Given the description of an element on the screen output the (x, y) to click on. 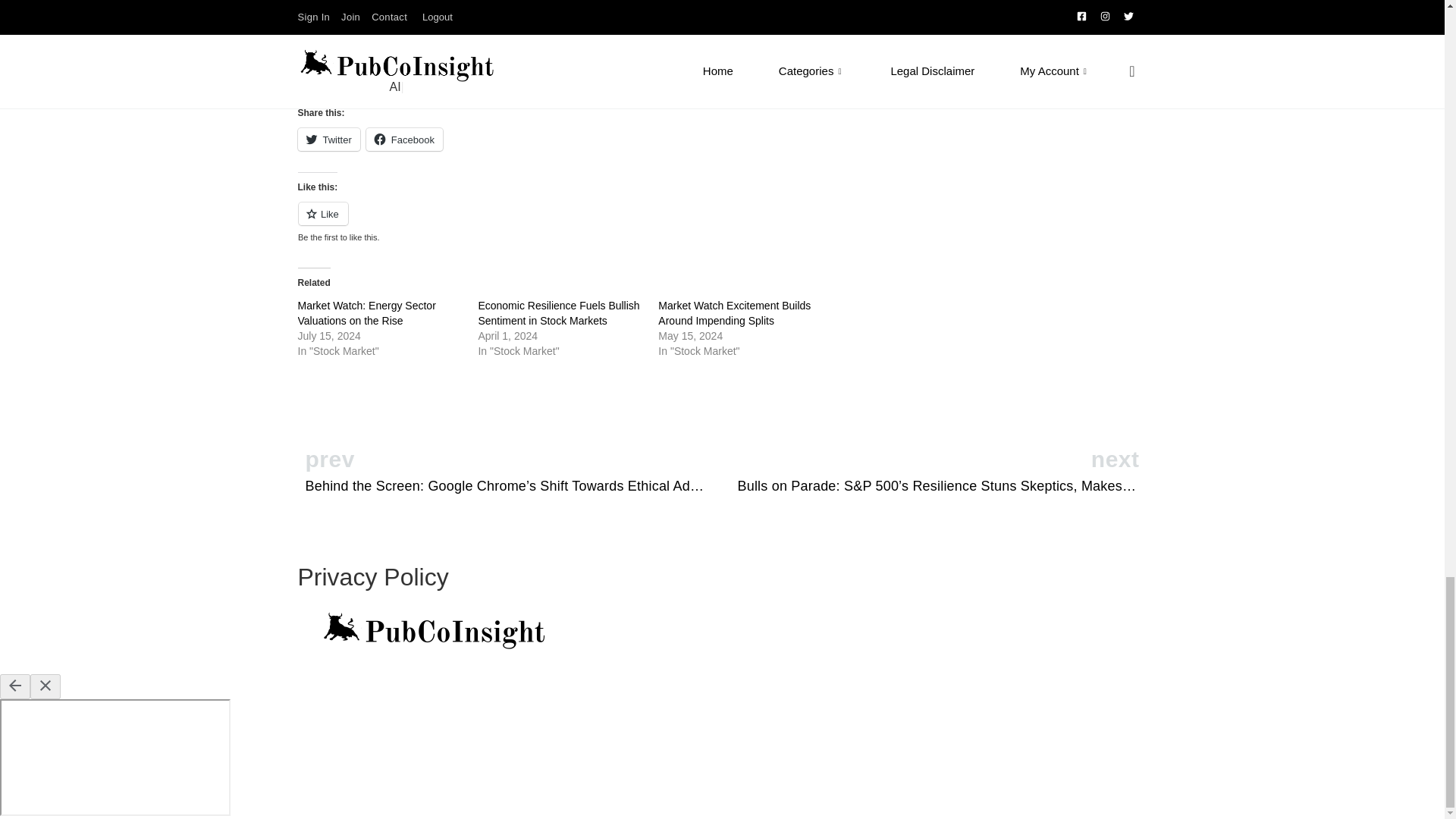
Click to share on Facebook (404, 138)
Like or Reblog (570, 222)
Economic Resilience Fuels Bullish Sentiment in Stock Markets (558, 311)
Market Watch: Energy Sector Valuations on the Rise (366, 311)
Market Watch Excitement Builds Around Impending Splits (734, 311)
Click to share on Twitter (328, 138)
